Given the description of an element on the screen output the (x, y) to click on. 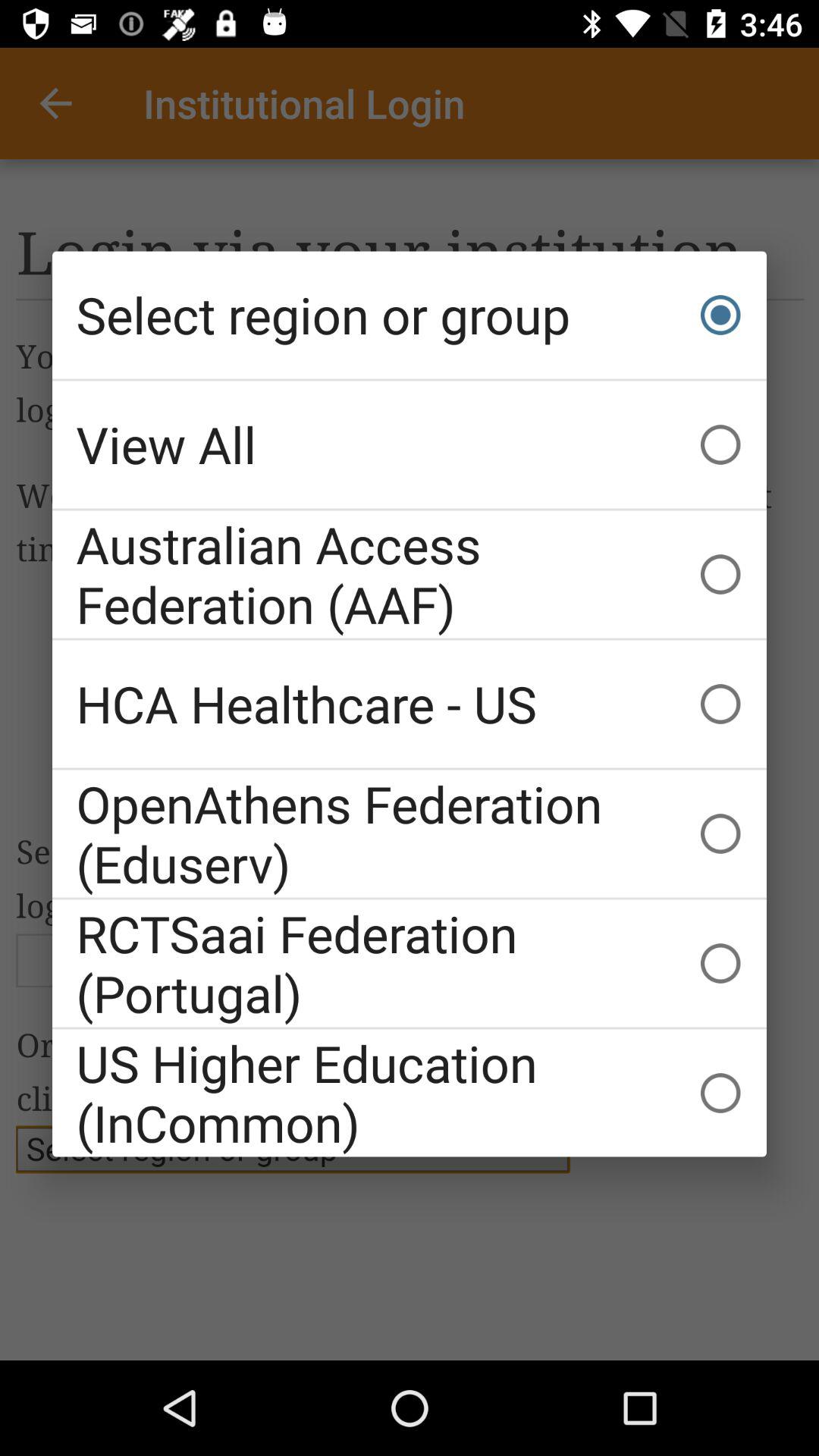
open icon above us higher education (409, 963)
